Given the description of an element on the screen output the (x, y) to click on. 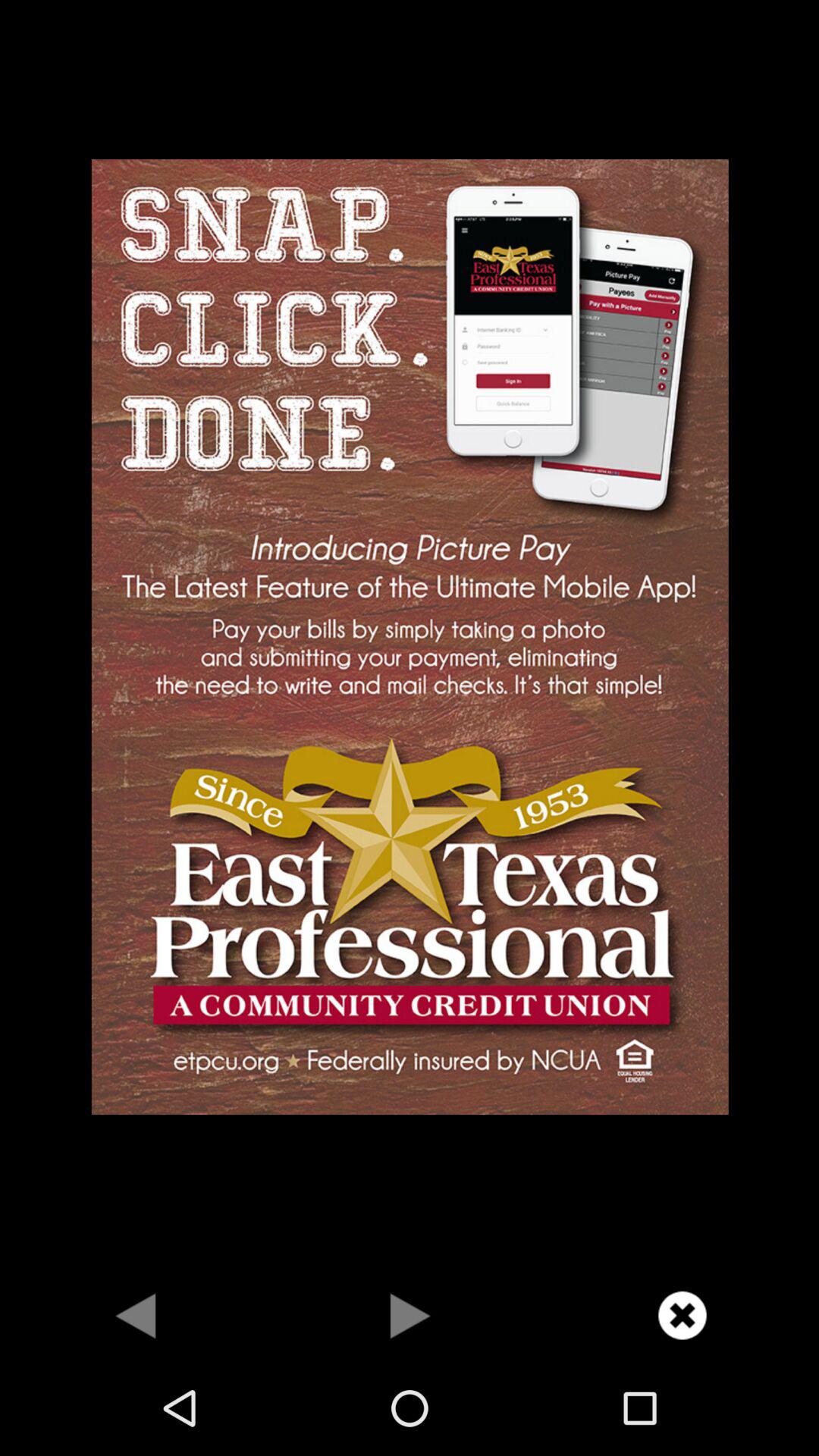
go to close botten (682, 1315)
